Given the description of an element on the screen output the (x, y) to click on. 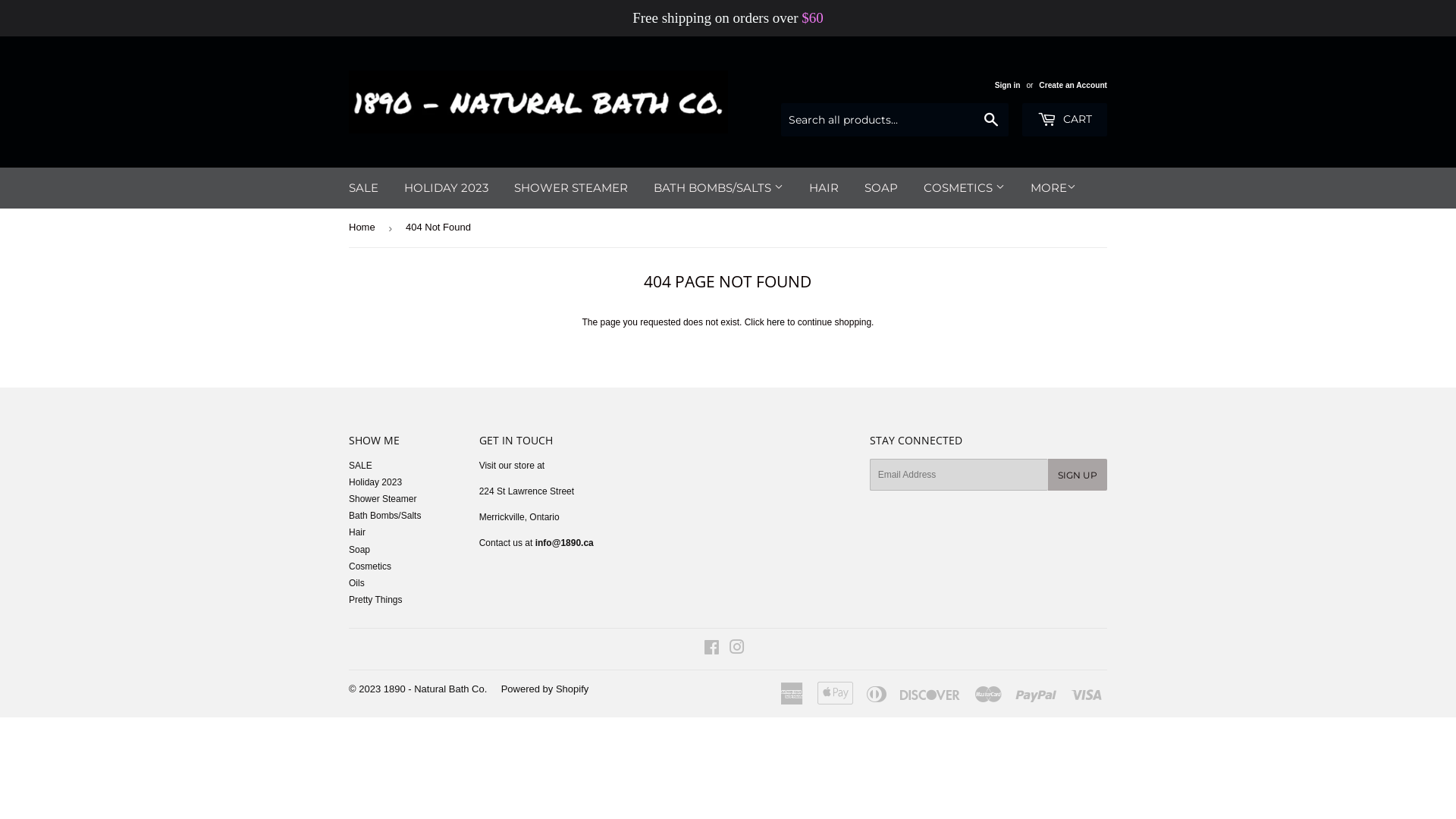
here Element type: text (775, 321)
Search Element type: text (991, 120)
Create an Account Element type: text (1072, 84)
Soap Element type: text (359, 549)
Home Element type: text (364, 227)
HOLIDAY 2023 Element type: text (445, 187)
1890 - Natural Bath Co. Element type: text (435, 688)
Oils Element type: text (356, 582)
MORE Element type: text (1053, 187)
Hair Element type: text (356, 532)
SIGN UP Element type: text (1077, 474)
BATH BOMBS/SALTS Element type: text (718, 187)
SOAP Element type: text (881, 187)
Shower Steamer Element type: text (382, 498)
SALE Element type: text (363, 187)
SALE Element type: text (360, 465)
Cosmetics Element type: text (369, 566)
Sign in Element type: text (1007, 84)
Bath Bombs/Salts Element type: text (384, 515)
Instagram Element type: text (736, 649)
Holiday 2023 Element type: text (374, 481)
Pretty Things Element type: text (374, 599)
Powered by Shopify Element type: text (545, 688)
COSMETICS Element type: text (964, 187)
CART Element type: text (1064, 119)
Facebook Element type: text (711, 649)
SHOWER STEAMER Element type: text (570, 187)
HAIR Element type: text (823, 187)
